Given the description of an element on the screen output the (x, y) to click on. 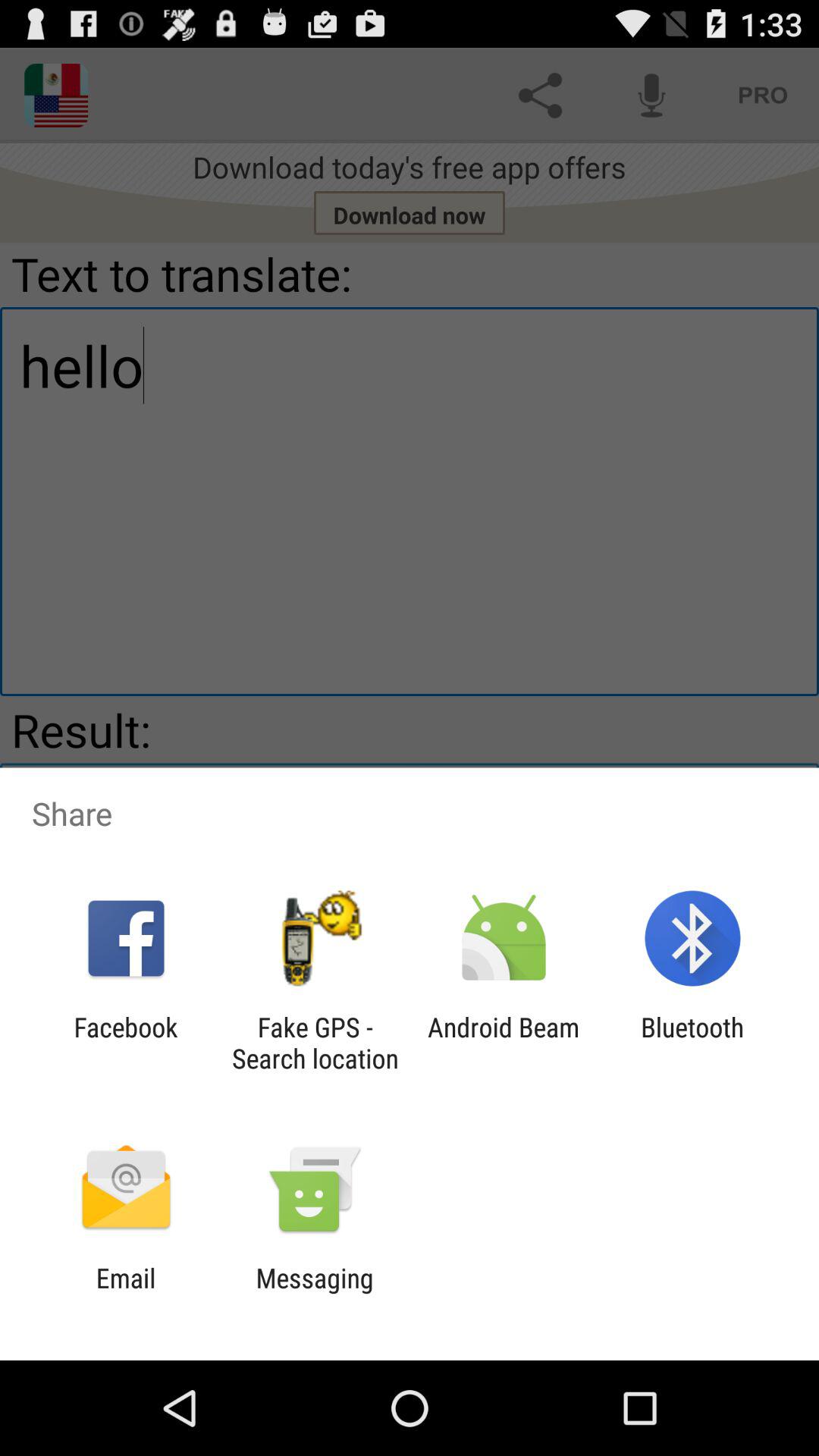
launch app to the right of the facebook item (314, 1042)
